Given the description of an element on the screen output the (x, y) to click on. 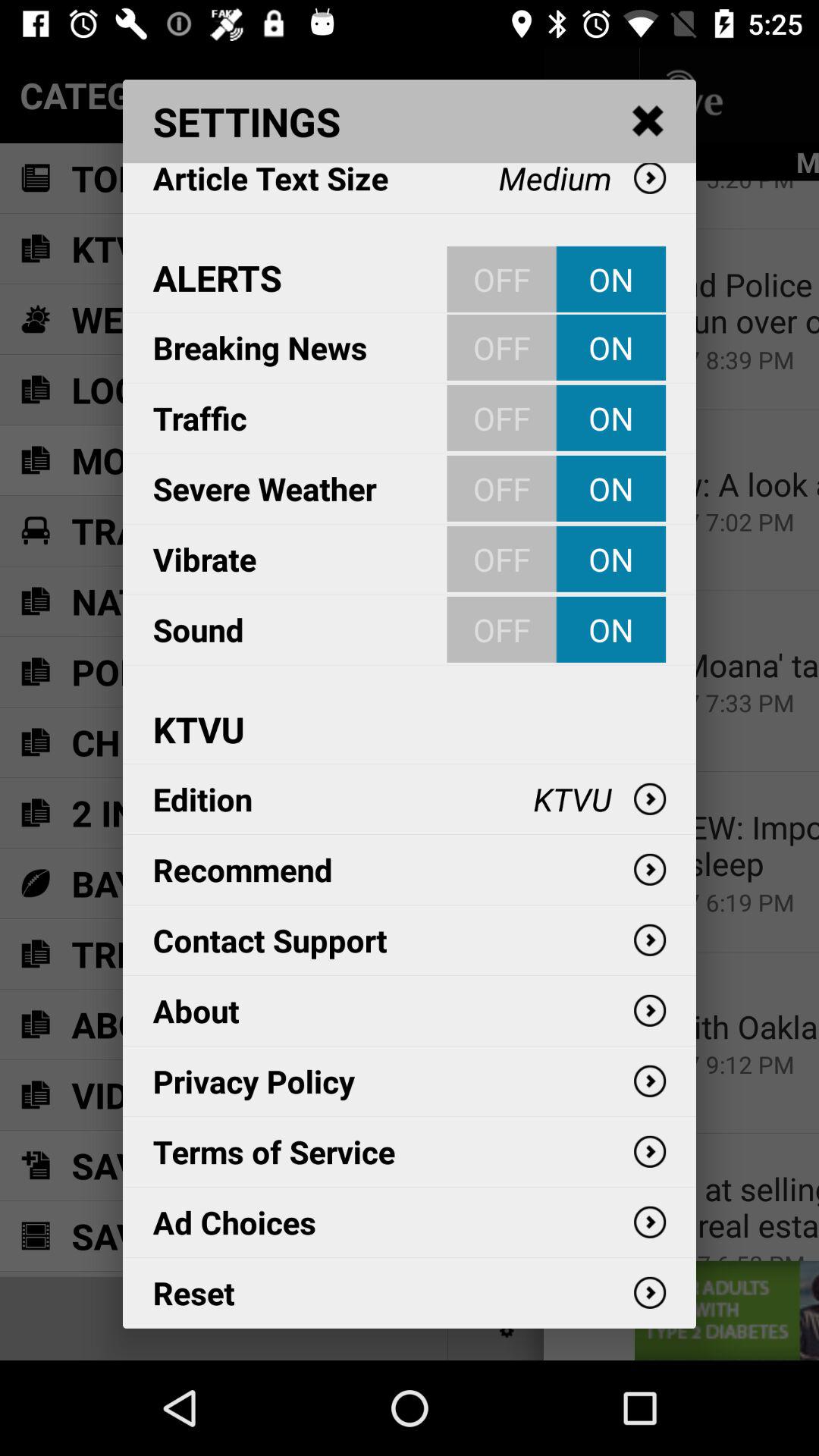
close settings (648, 121)
